Given the description of an element on the screen output the (x, y) to click on. 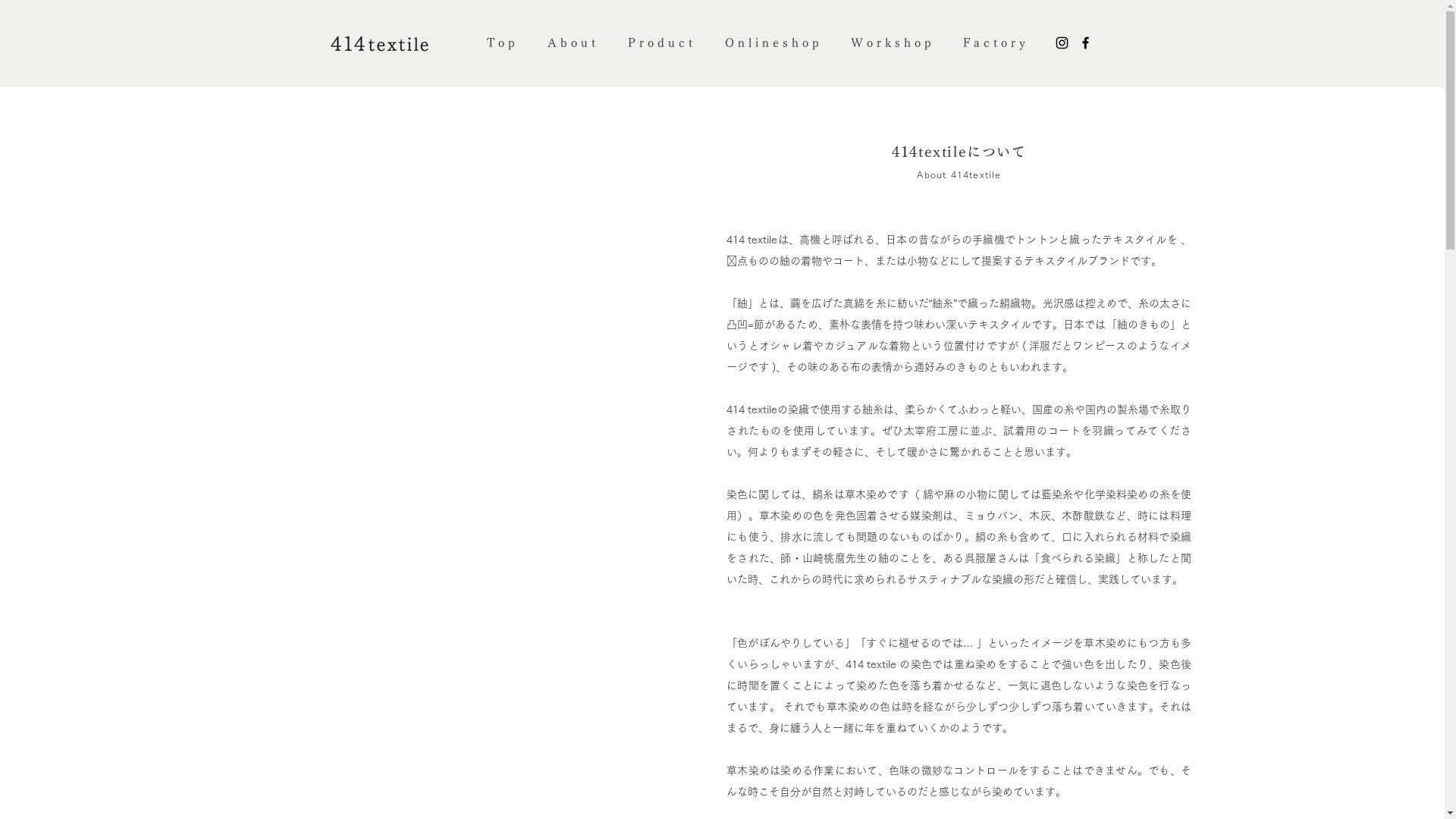
O n l i n e s h o p Element type: text (771, 42)
W o r k s h o p Element type: text (891, 42)
T o p Element type: text (500, 42)
P r o d u c t Element type: text (659, 42)
